Given the description of an element on the screen output the (x, y) to click on. 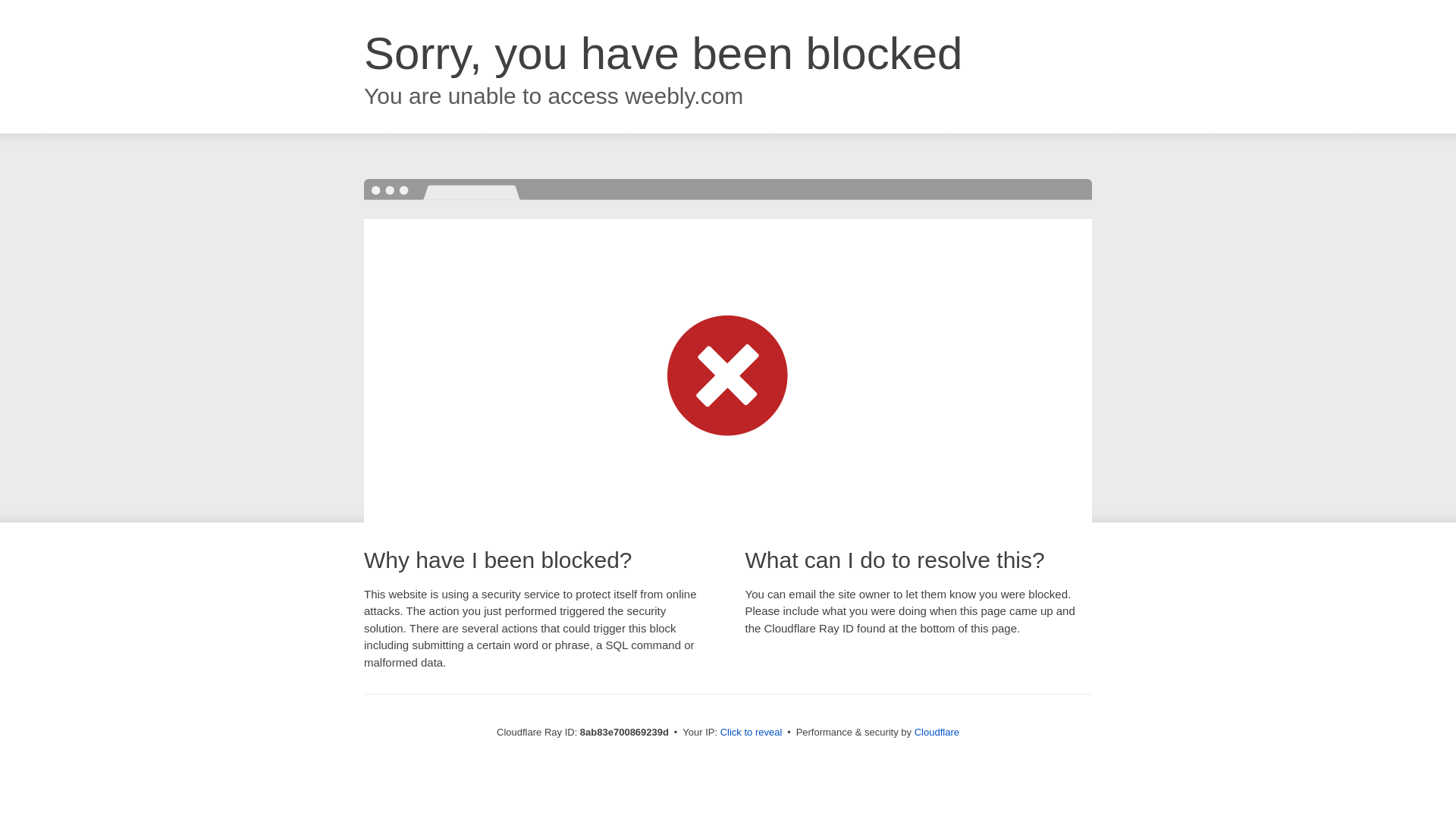
Cloudflare (936, 731)
Click to reveal (751, 732)
